Given the description of an element on the screen output the (x, y) to click on. 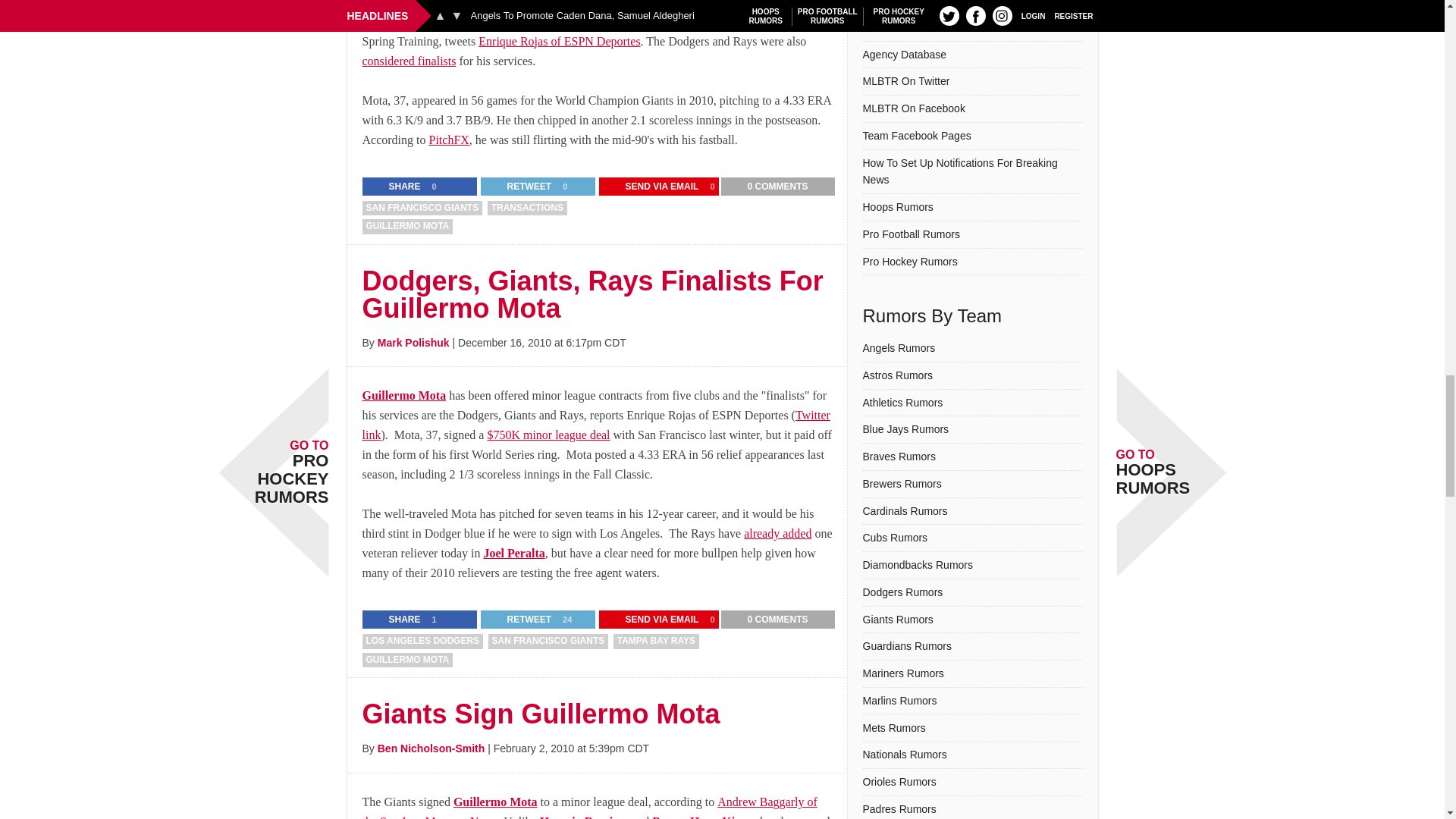
Send Giants To Sign Guillermo Mota with an email (652, 186)
Share 'Giants To Sign Guillermo Mota' on Facebook (395, 186)
Retweet 'Giants To Sign Guillermo Mota' on Twitter (519, 186)
